Given the description of an element on the screen output the (x, y) to click on. 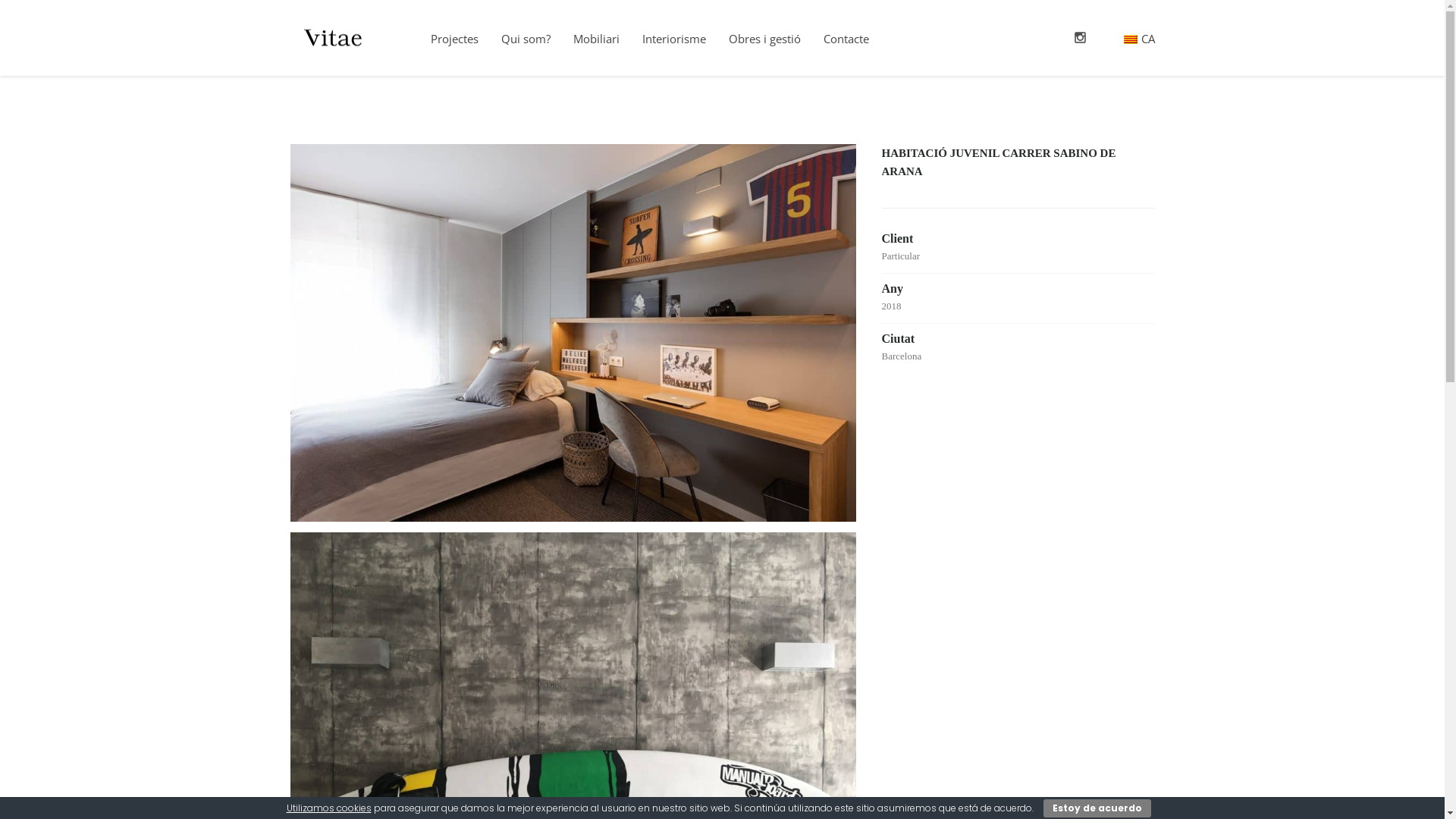
Qui som? Element type: text (525, 37)
Utilizamos cookies Element type: text (328, 807)
Mobiliari Element type: text (595, 37)
Projectes Element type: text (453, 37)
Estoy de acuerdo Element type: text (1097, 808)
Contacte Element type: text (845, 37)
CA Element type: text (1138, 37)
Interiorisme Element type: text (673, 37)
